Given the description of an element on the screen output the (x, y) to click on. 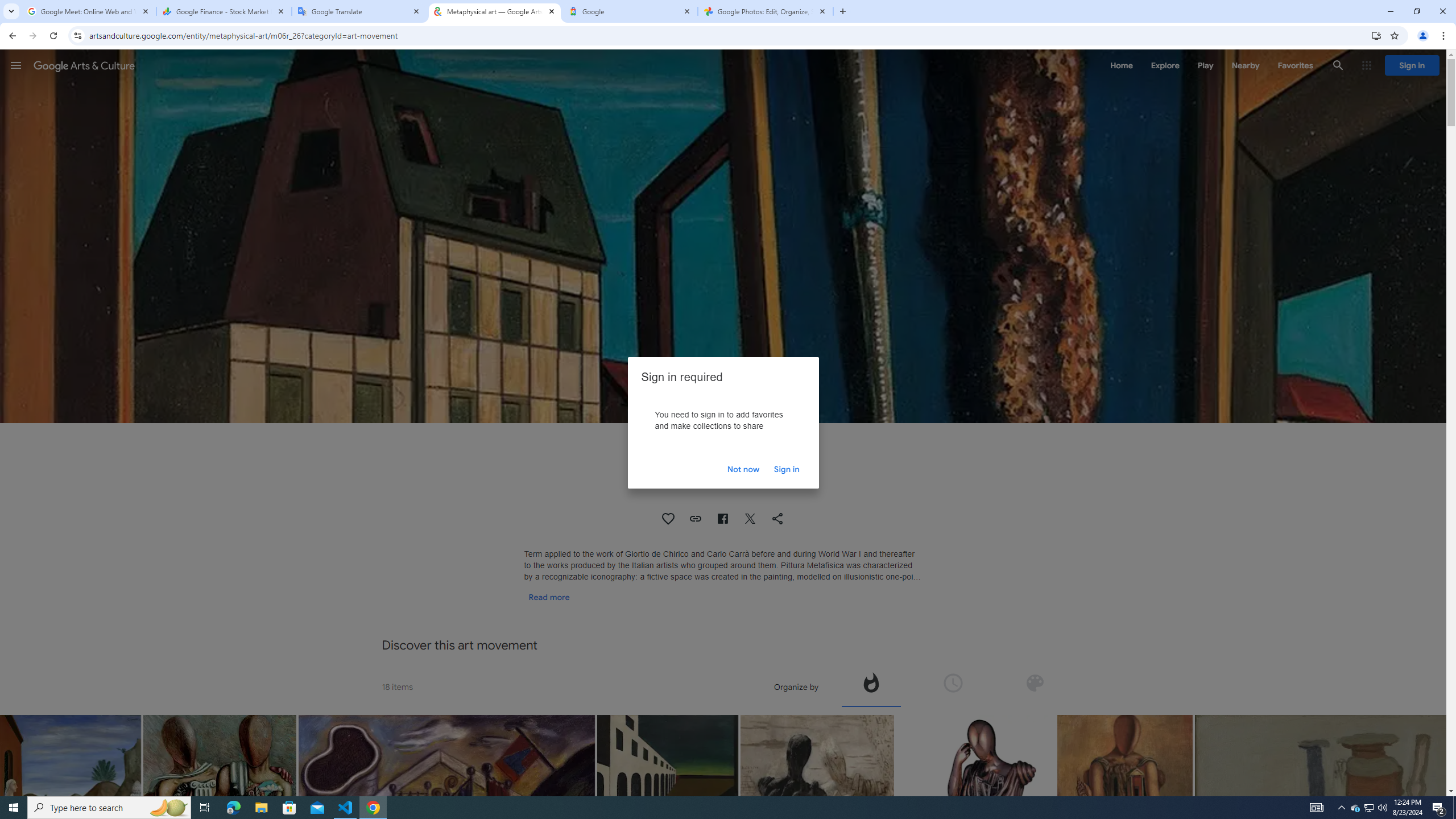
Favorites (1295, 65)
Menu (15, 65)
